Given the description of an element on the screen output the (x, y) to click on. 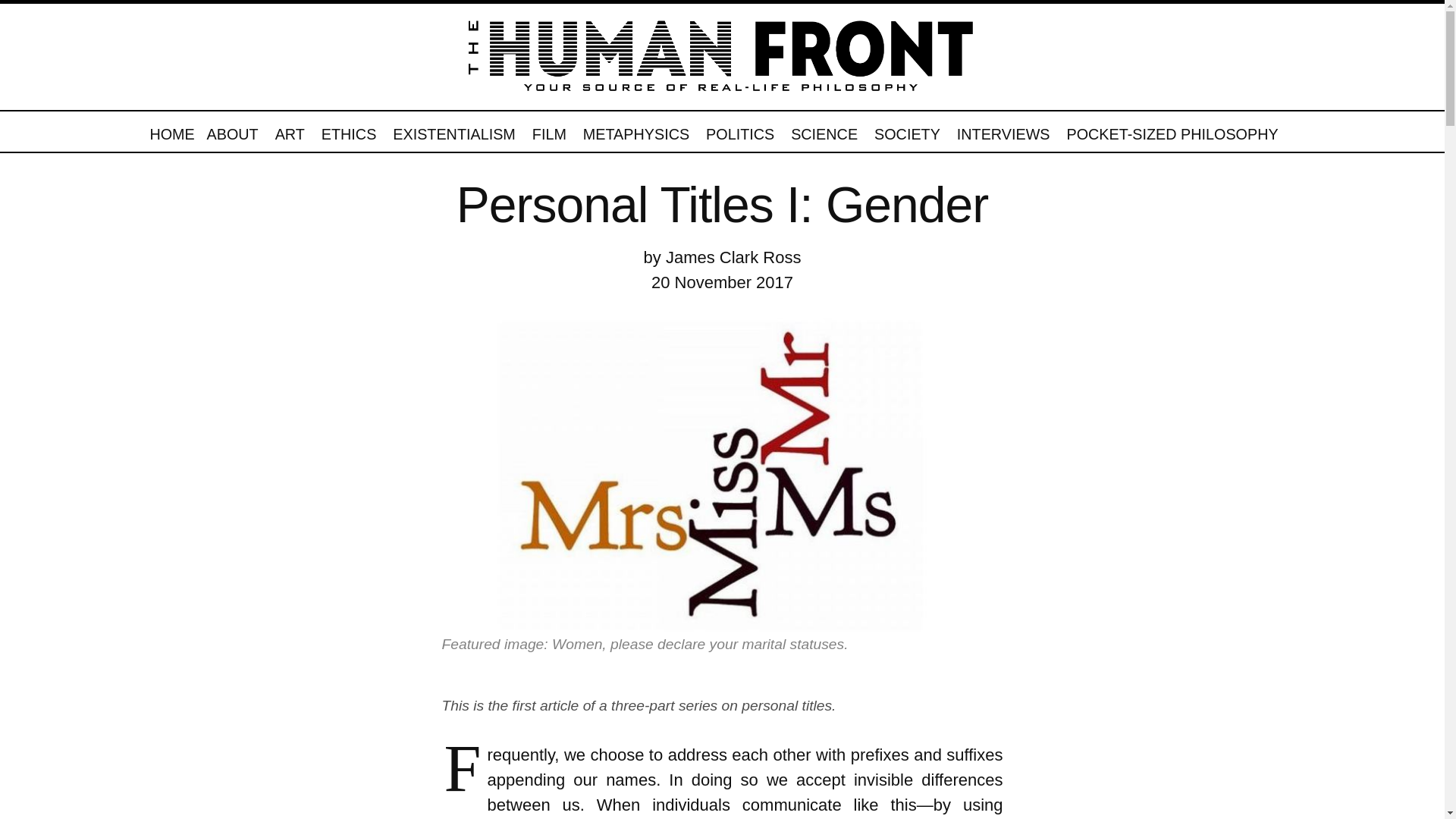
EXISTENTIALISM (454, 131)
POCKET-SIZED PHILOSOPHY (1172, 131)
SCIENCE (823, 131)
INTERVIEWS (1003, 131)
POLITICS (740, 131)
SOCIETY (906, 131)
HOME (171, 131)
ETHICS (348, 131)
ABOUT (232, 131)
METAPHYSICS (635, 131)
FILM (548, 131)
ART (290, 131)
